Given the description of an element on the screen output the (x, y) to click on. 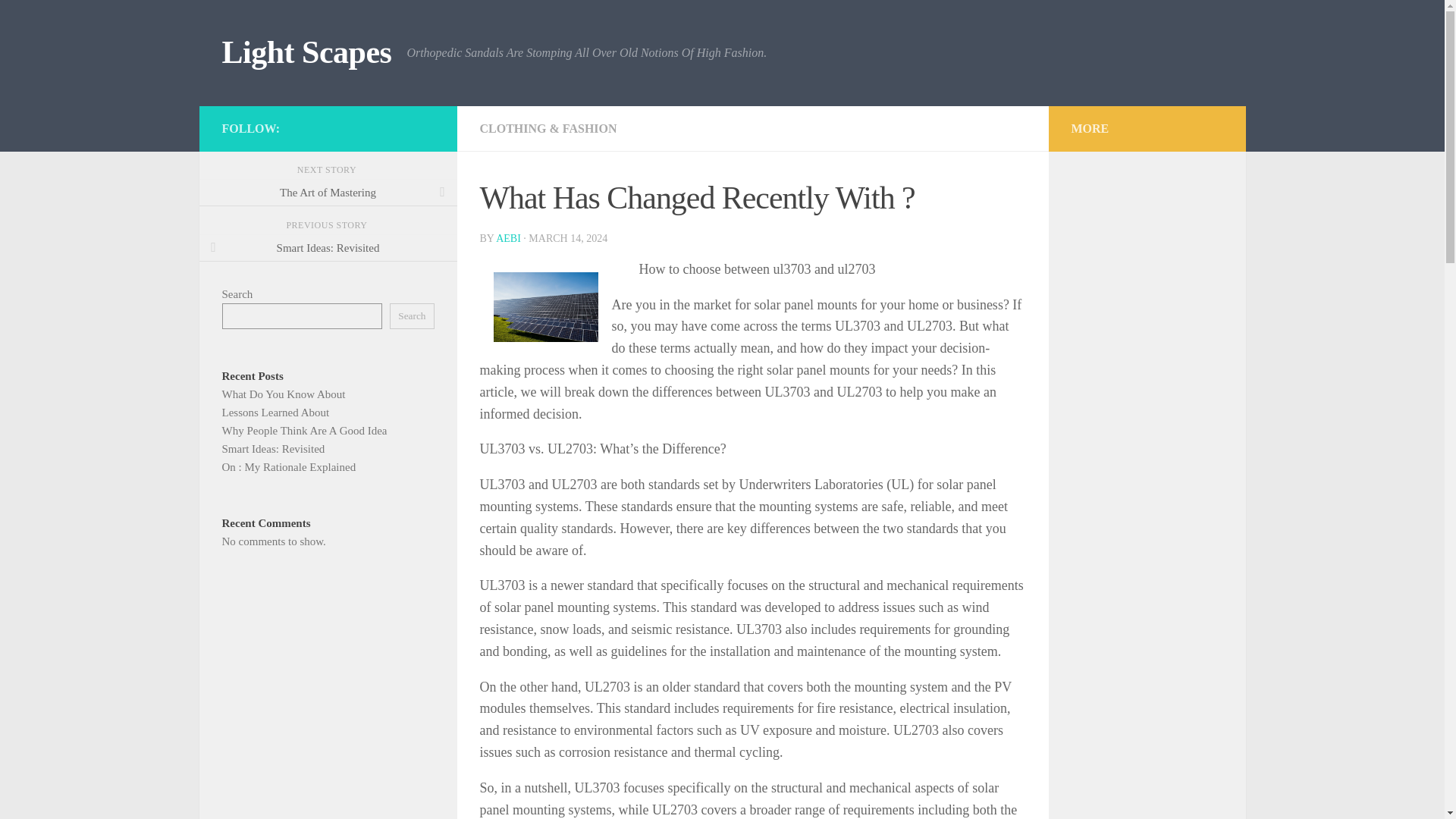
Smart Ideas: Revisited (327, 247)
The Art of Mastering (327, 192)
On : My Rationale Explained (288, 467)
Posts by aebi (508, 238)
Search (411, 316)
AEBI (508, 238)
What Do You Know About (283, 394)
Skip to content (59, 20)
Smart Ideas: Revisited (272, 449)
Light Scapes (306, 53)
